Given the description of an element on the screen output the (x, y) to click on. 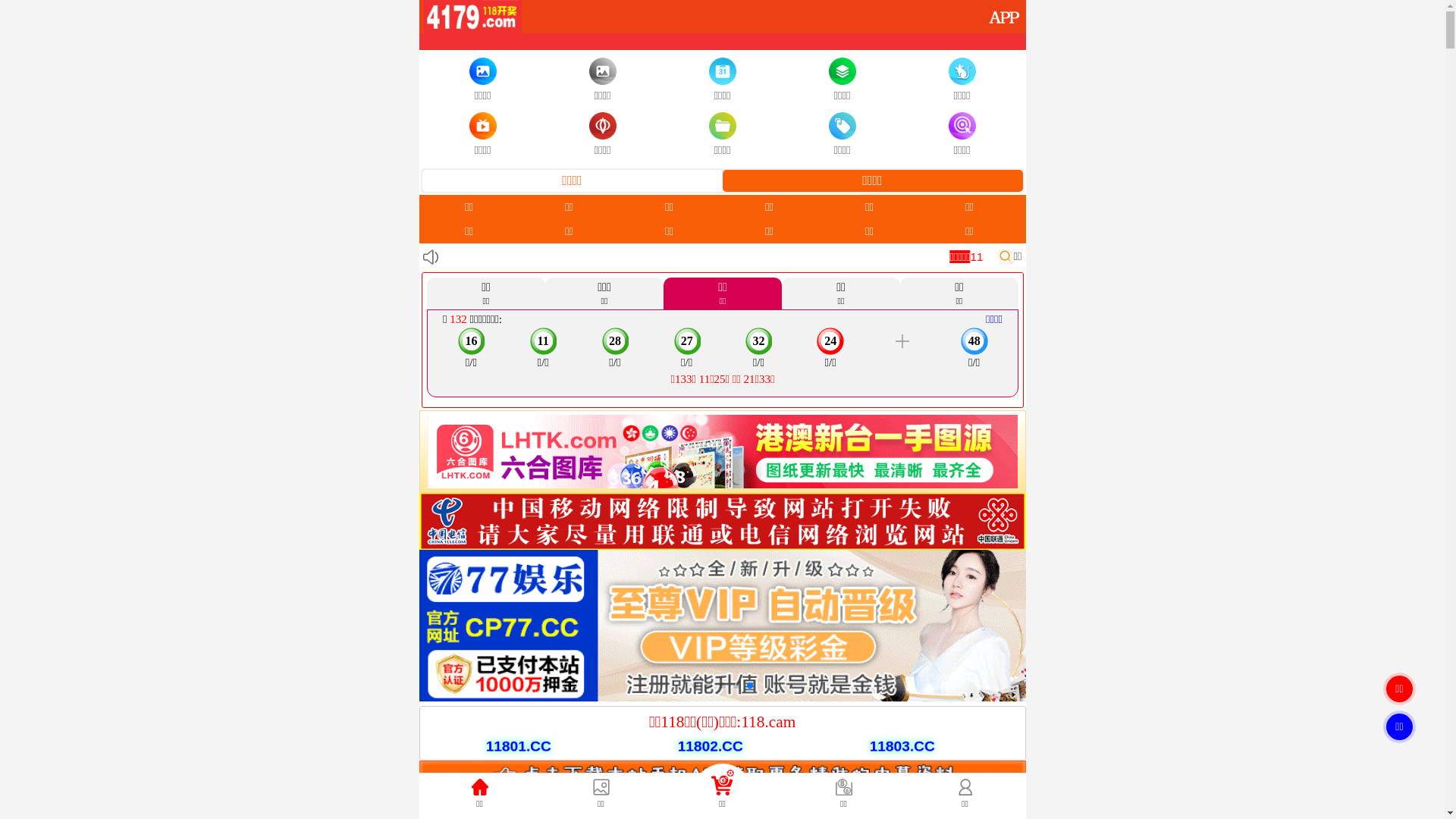
11801.CC Element type: text (505, 744)
11803.CC Element type: text (887, 744)
11802.CC Element type: text (696, 744)
